Given the description of an element on the screen output the (x, y) to click on. 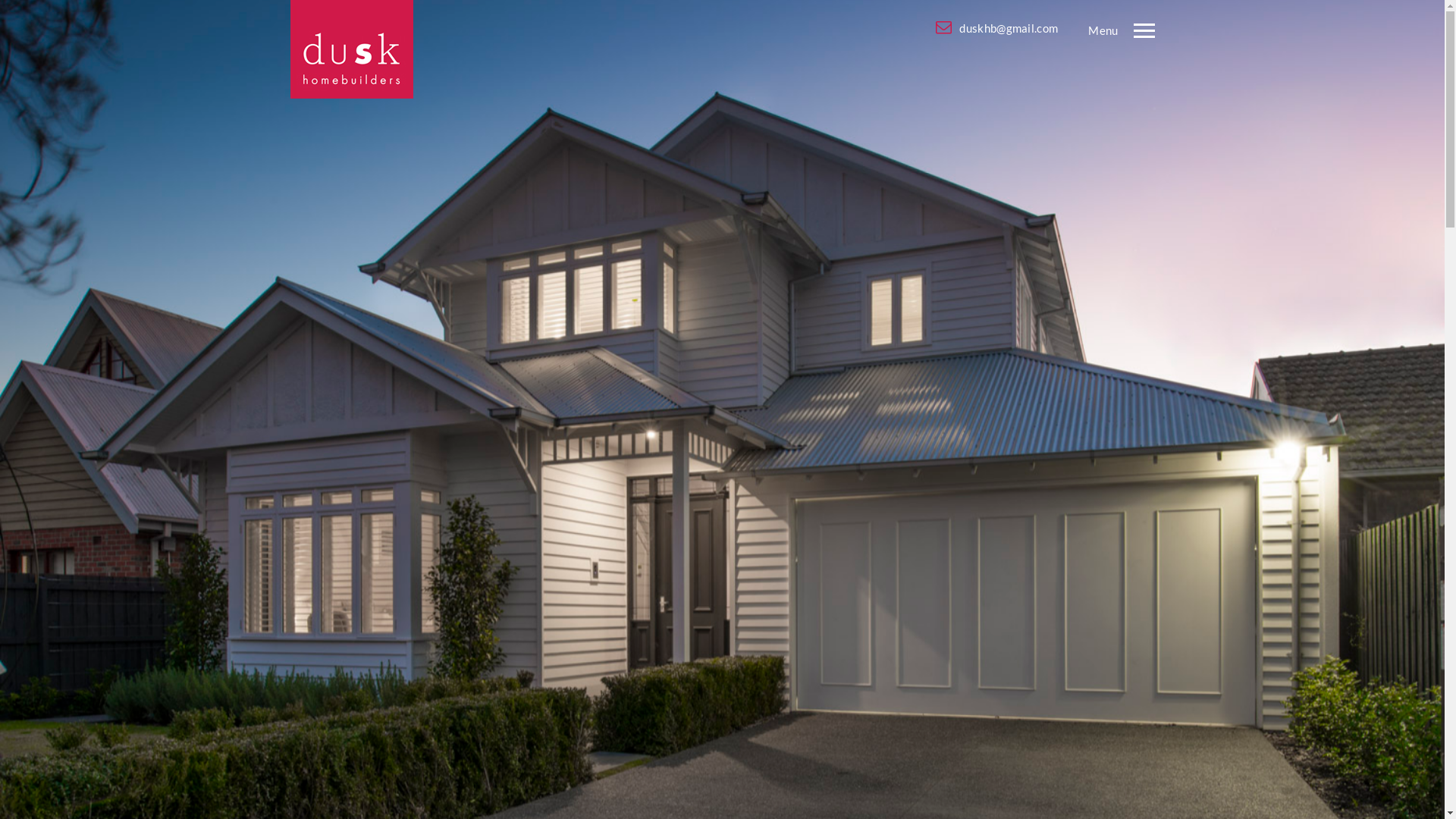
duskhb@gmail.com Element type: text (992, 27)
